Given the description of an element on the screen output the (x, y) to click on. 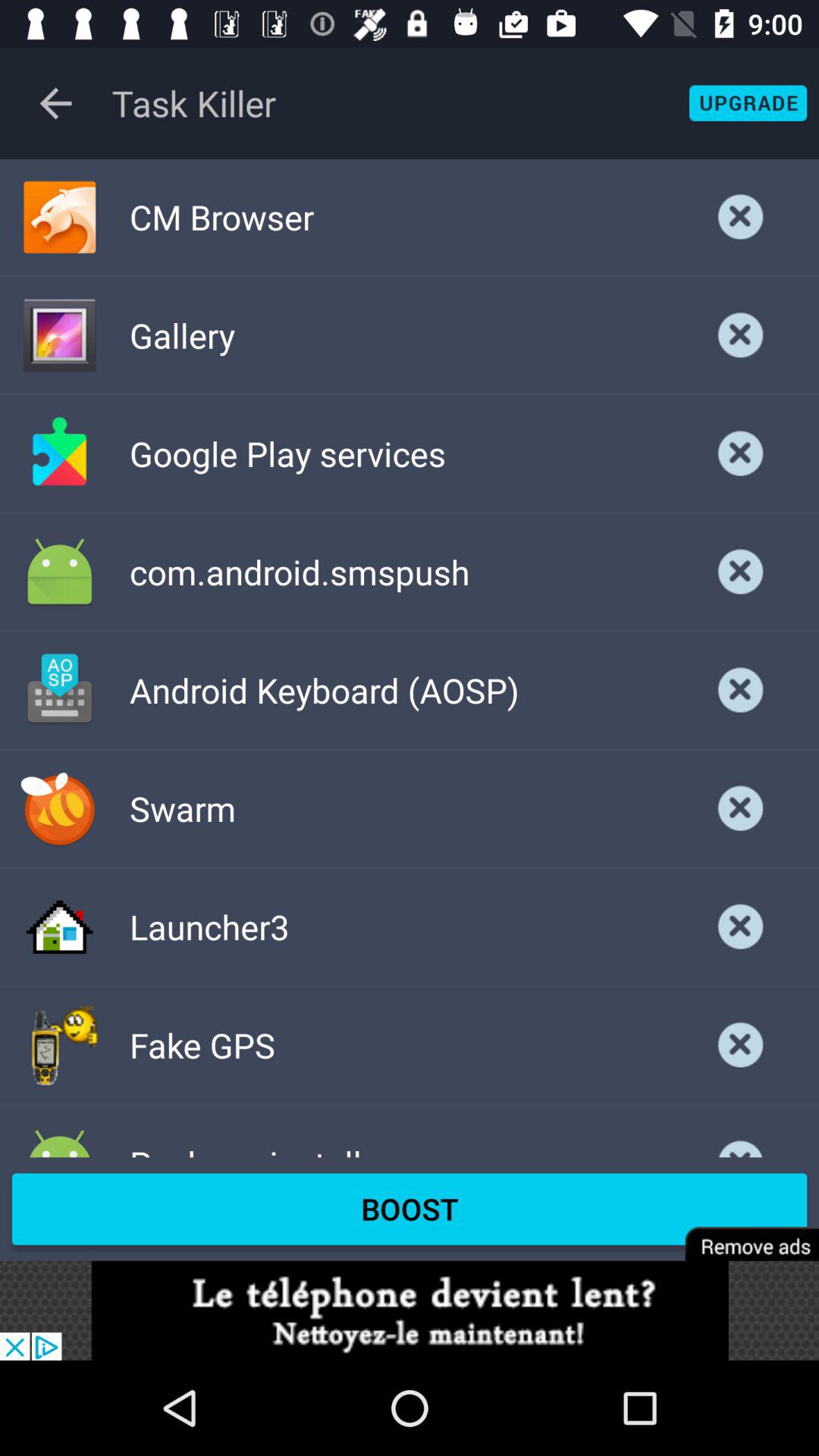
upgrade application (748, 103)
